Given the description of an element on the screen output the (x, y) to click on. 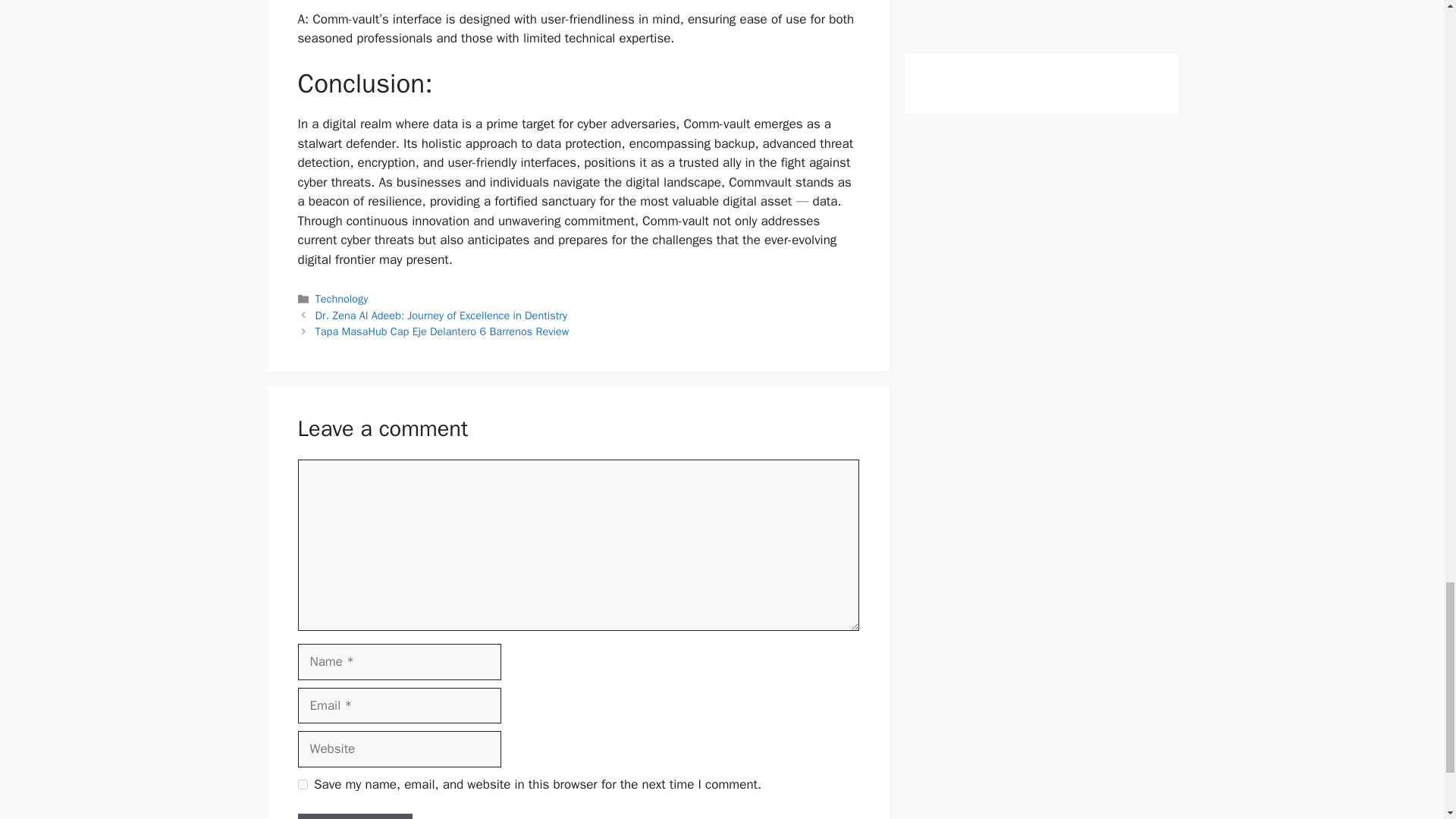
Dr. Zena Al Adeeb: Journey of Excellence in Dentistry (441, 315)
Tapa MasaHub Cap Eje Delantero 6 Barrenos Review (442, 331)
Post Comment (354, 816)
Technology (341, 298)
yes (302, 784)
Post Comment (354, 816)
